Given the description of an element on the screen output the (x, y) to click on. 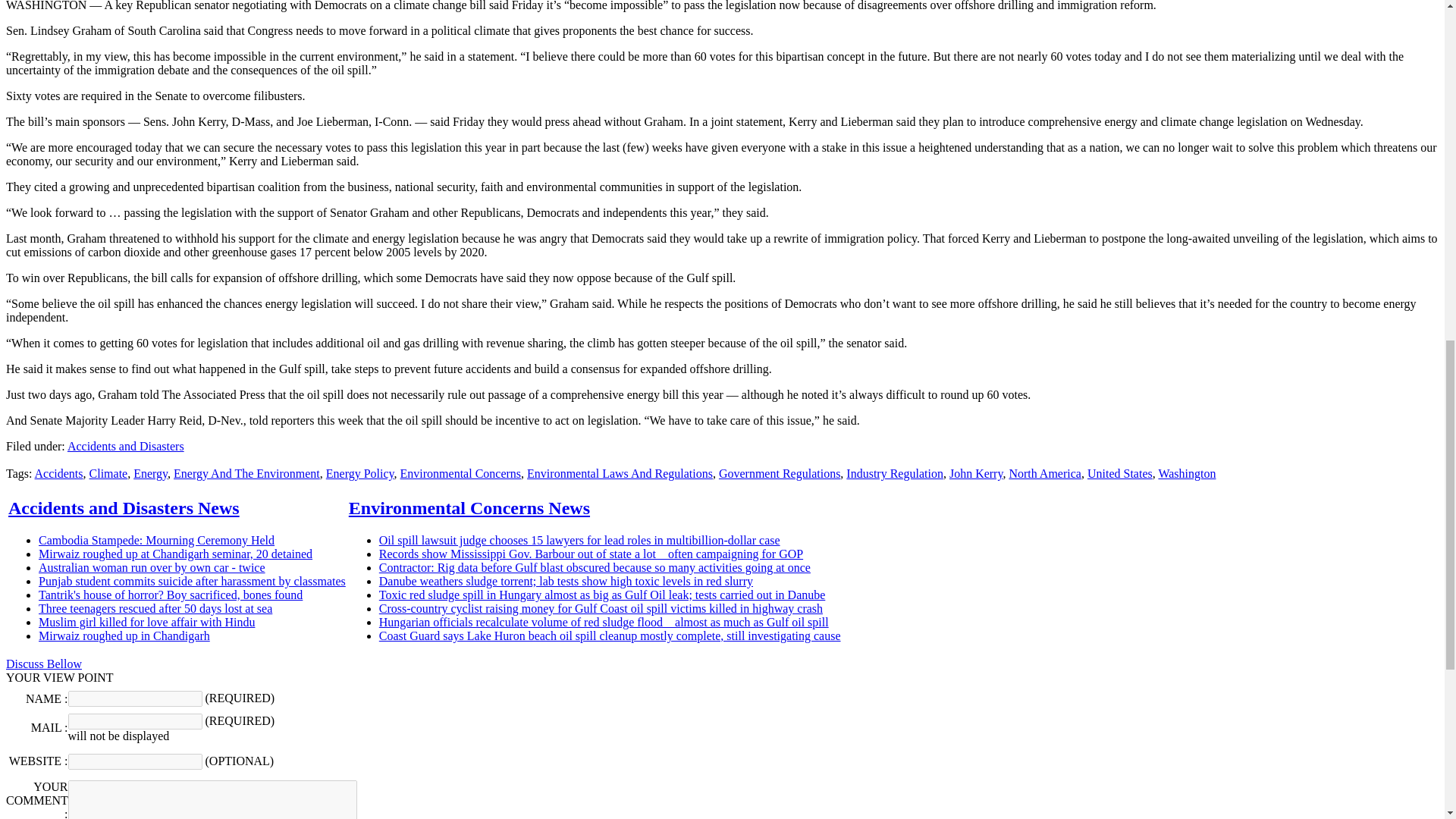
Climate (108, 472)
Accidents and Disasters (125, 445)
Accidents (58, 472)
Energy (150, 472)
